Given the description of an element on the screen output the (x, y) to click on. 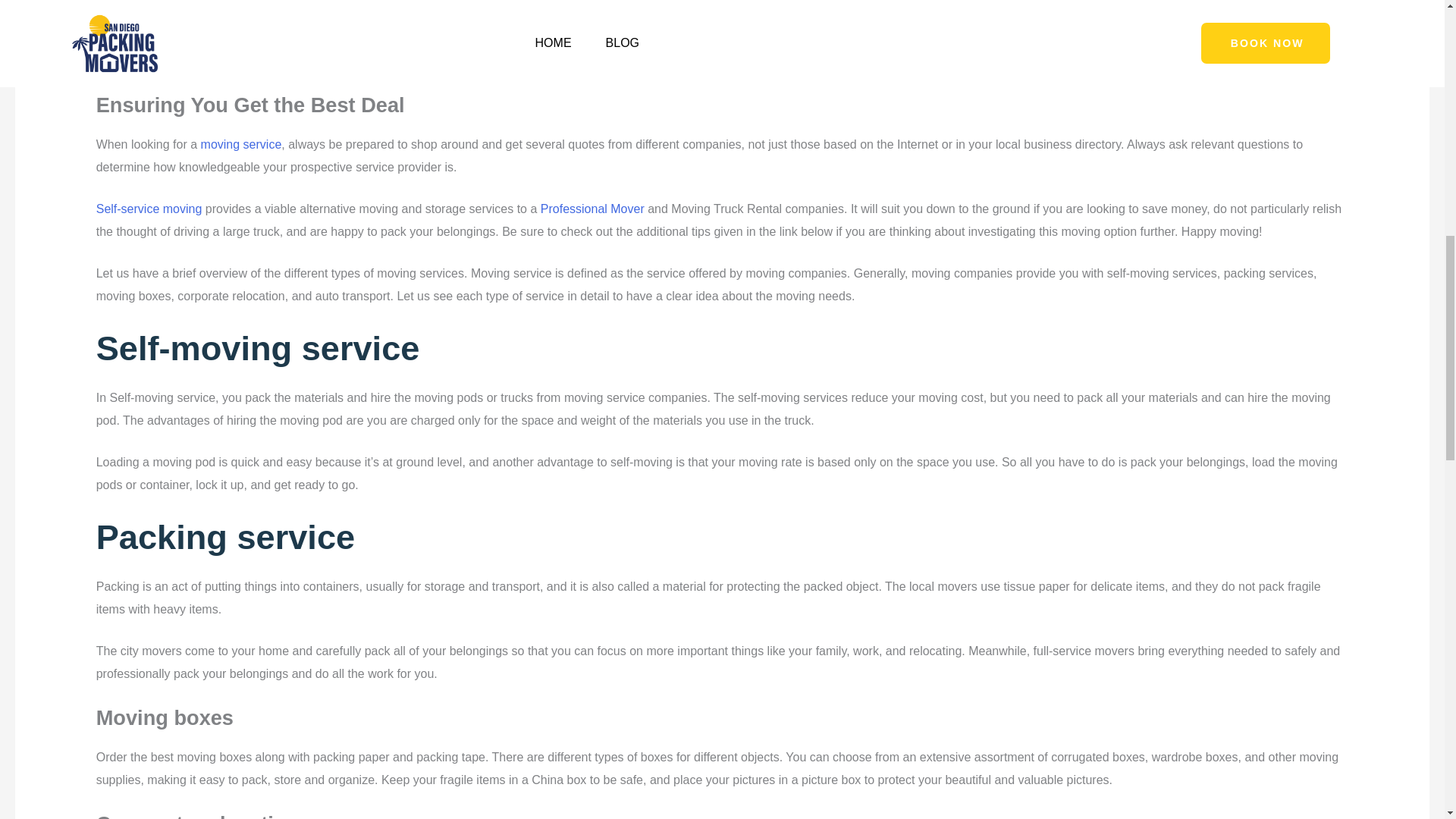
moving service (241, 144)
Professional Mover (592, 208)
Packing service (225, 536)
Self-service moving (149, 208)
Self-moving service (258, 348)
